Given the description of an element on the screen output the (x, y) to click on. 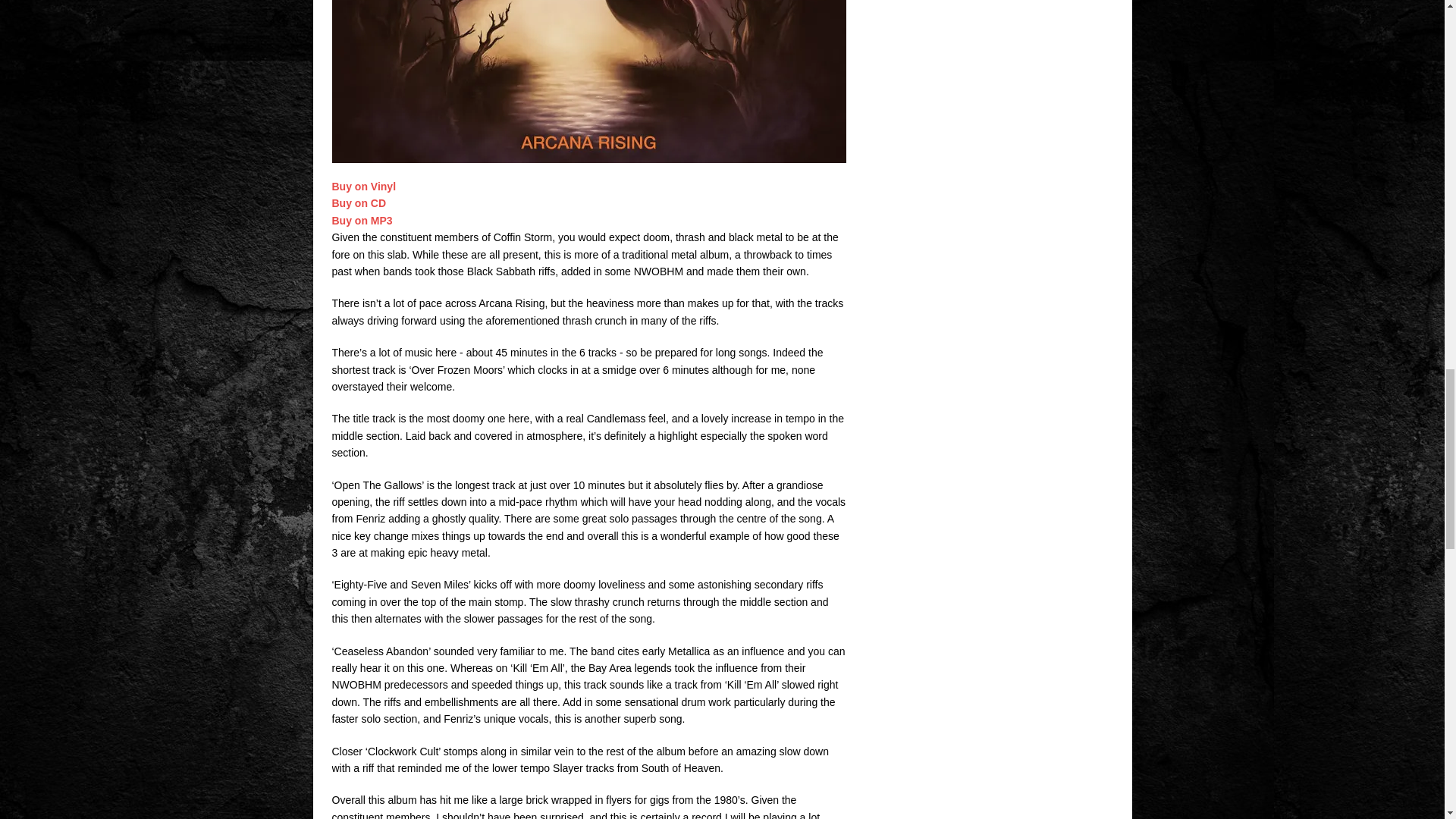
Album Review: Coffin Storm - Arcana Rising (588, 81)
